Given the description of an element on the screen output the (x, y) to click on. 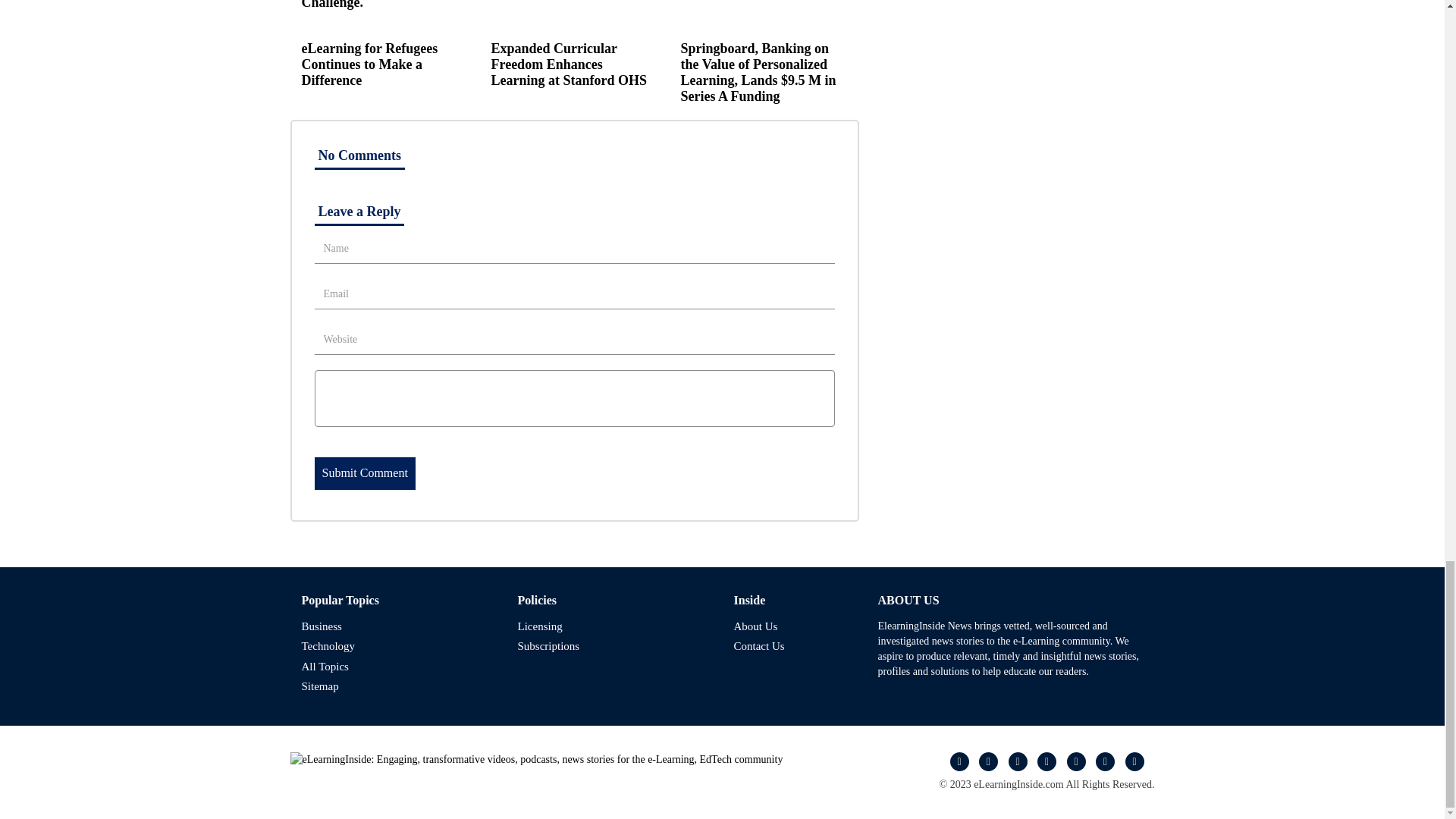
eLearning for Refugees Continues to Make a Difference (369, 63)
Submit Comment (364, 473)
Submit Comment (364, 473)
